Given the description of an element on the screen output the (x, y) to click on. 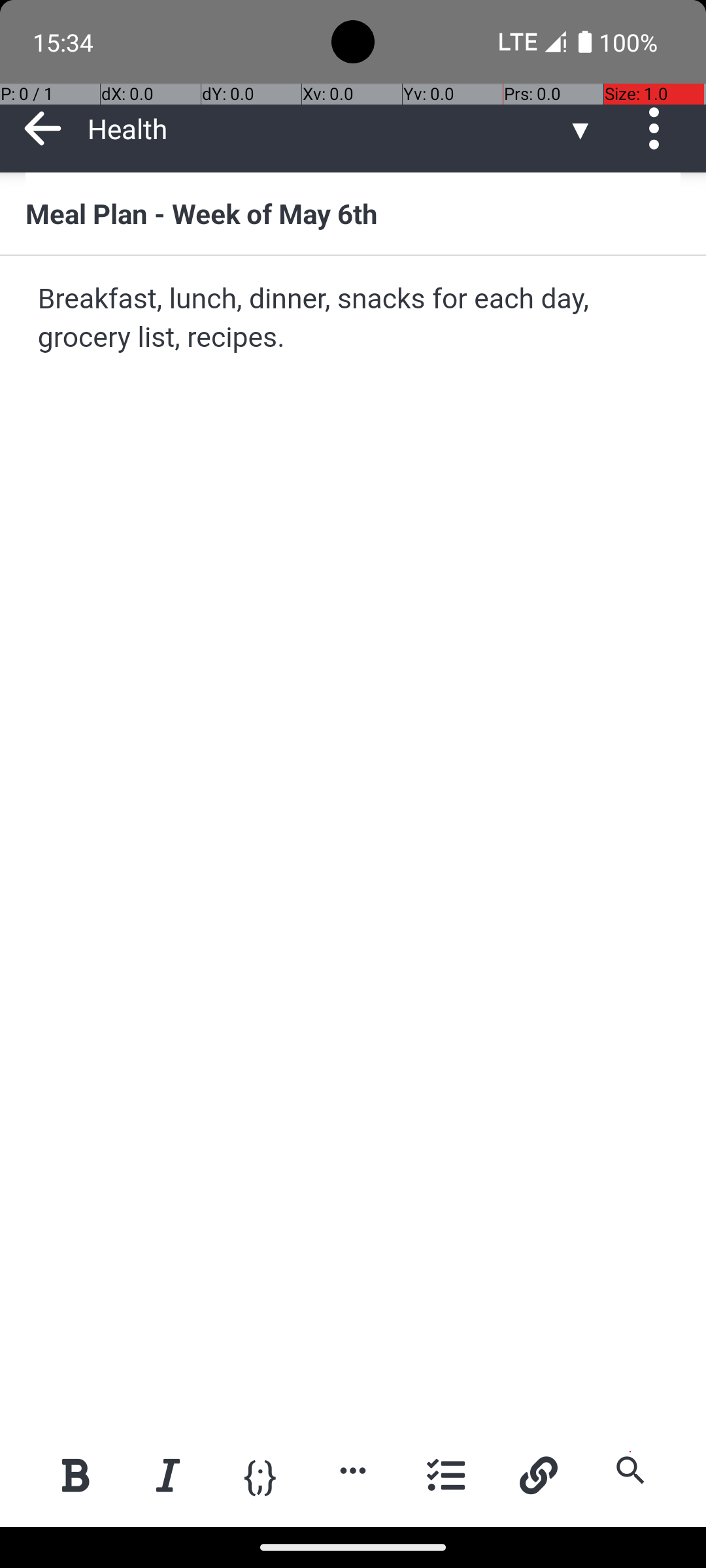
Meal Plan - Week of May 6th Element type: android.widget.EditText (352, 213)
Breakfast, lunch, dinner, snacks for each day, grocery list, recipes. Element type: android.widget.EditText (354, 318)
